Given the description of an element on the screen output the (x, y) to click on. 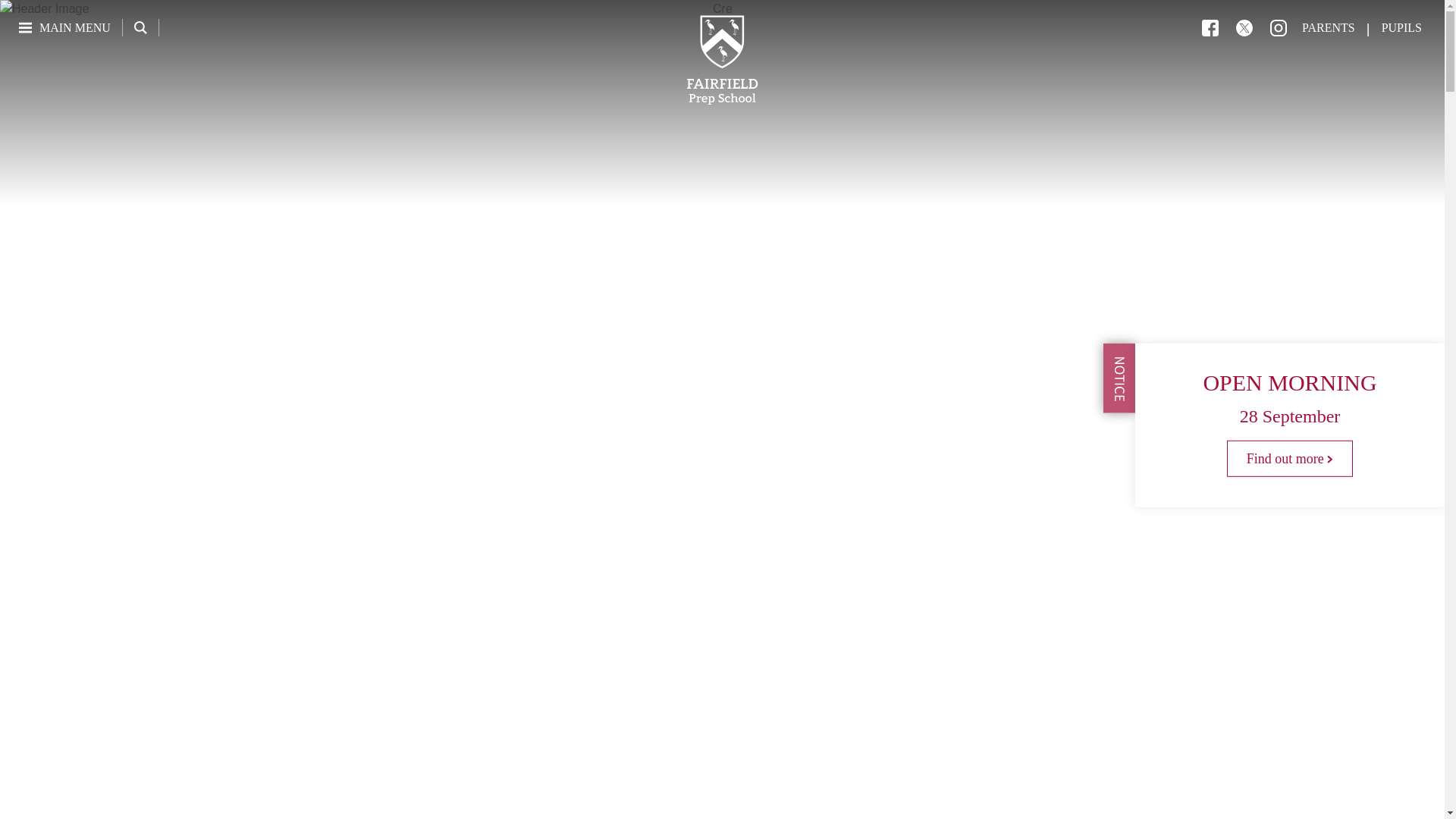
MAIN MENU (64, 27)
PUPILS (1401, 27)
PARENTS (1328, 27)
